Given the description of an element on the screen output the (x, y) to click on. 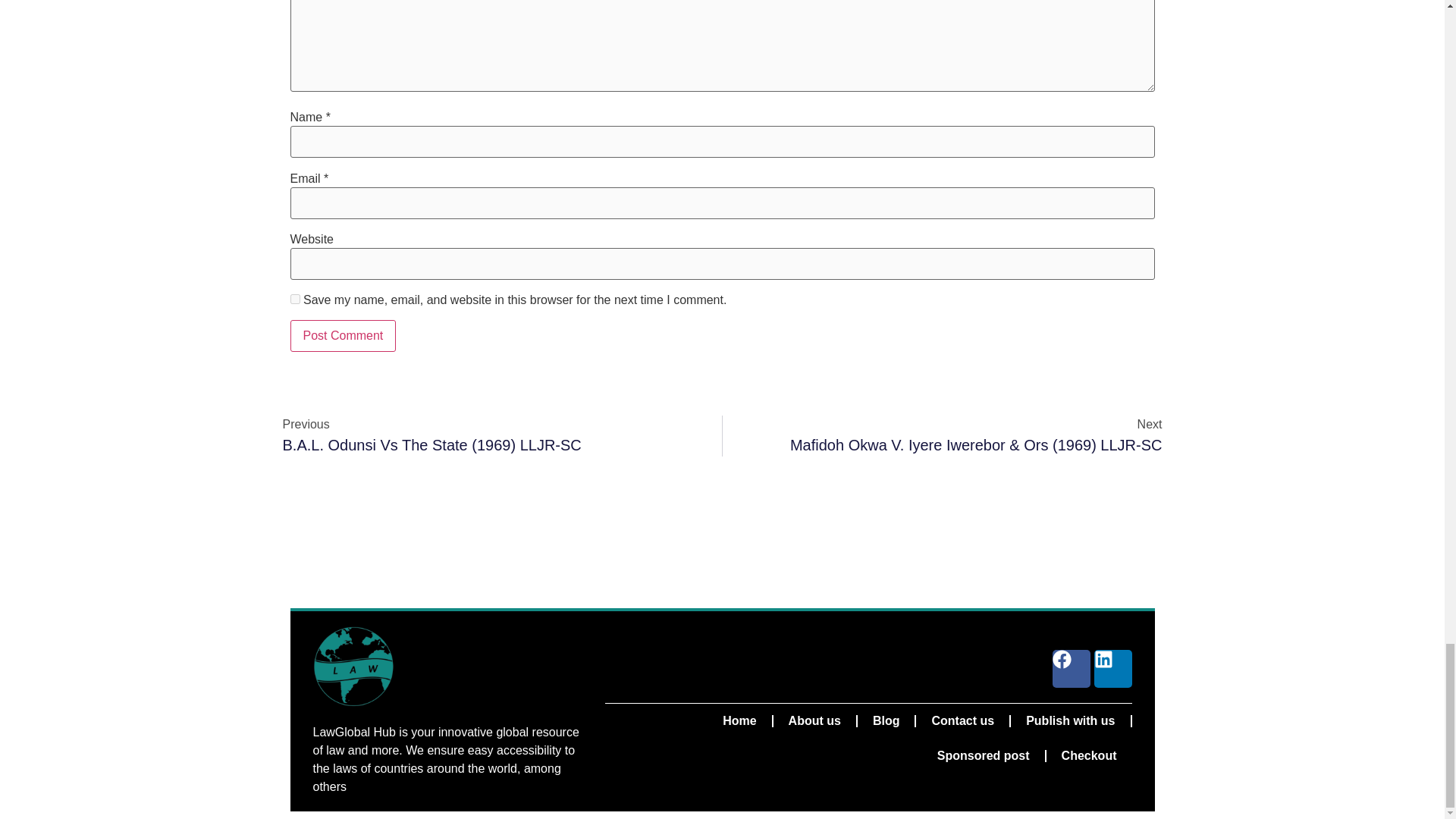
Post Comment (342, 336)
Post Comment (342, 336)
Home (739, 720)
About us (814, 720)
yes (294, 298)
Blog (886, 720)
Contact us (962, 720)
